Given the description of an element on the screen output the (x, y) to click on. 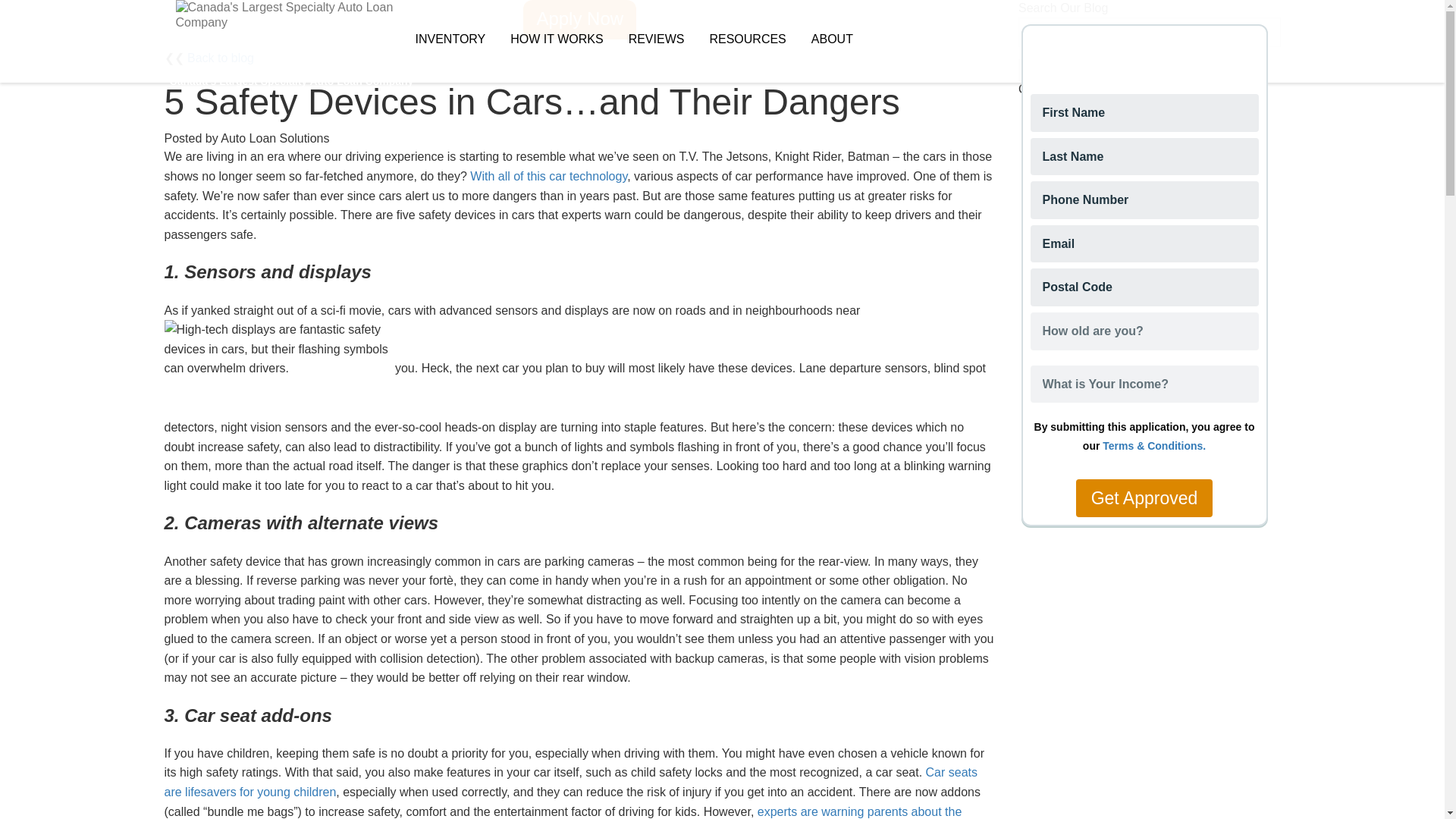
INVENTORY (450, 39)
REVIEWS (656, 39)
HOW IT WORKS (555, 39)
Search (1042, 69)
Get Approved (1143, 497)
RESOURCES (747, 39)
ABOUT (831, 39)
Keyword (1149, 31)
Get Approved (1143, 497)
